Given the description of an element on the screen output the (x, y) to click on. 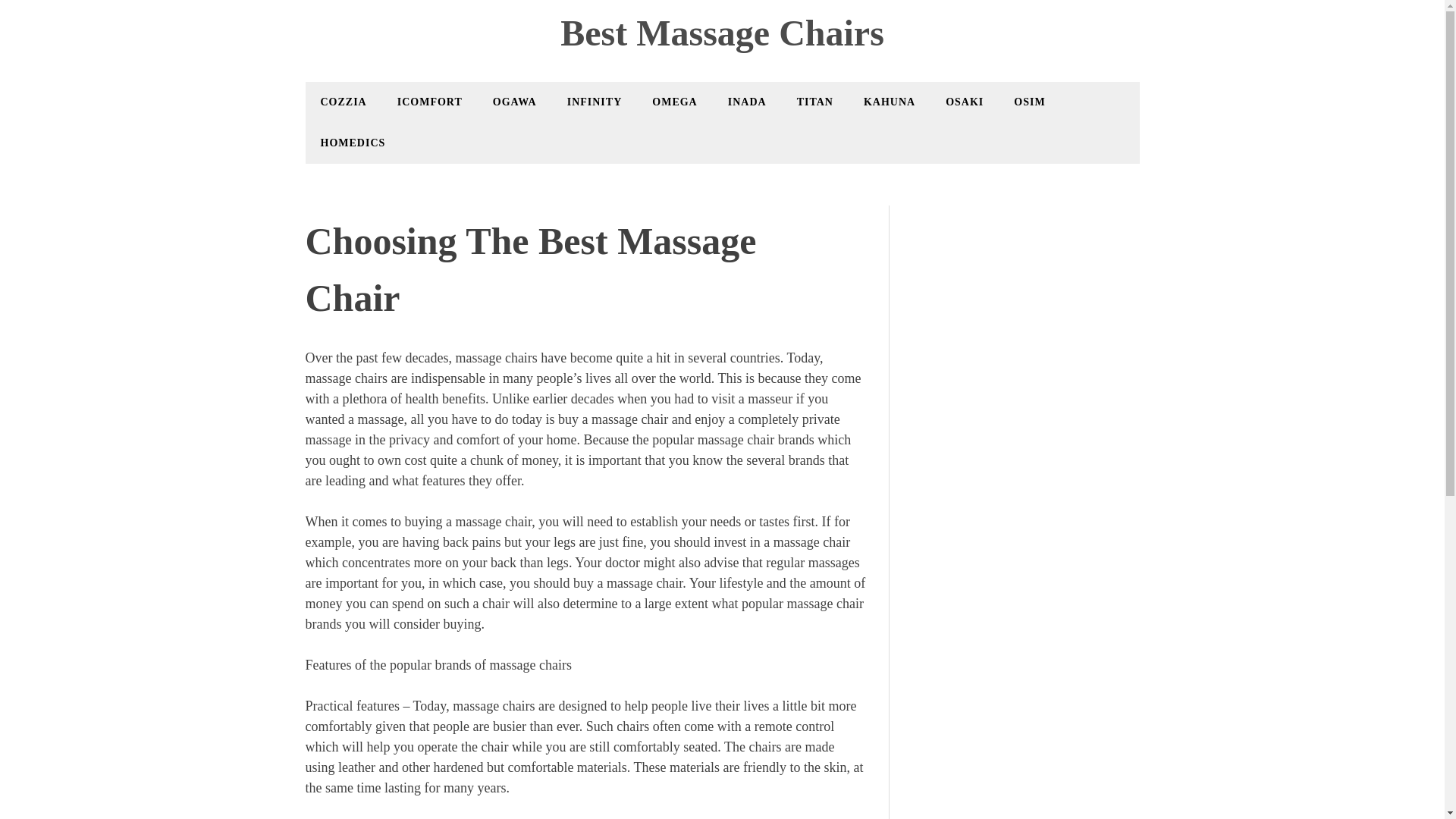
OSAKI Element type: text (964, 101)
Best Massage Chairs Element type: text (722, 32)
ICOMFORT Element type: text (429, 101)
OMEGA Element type: text (674, 101)
INFINITY Element type: text (594, 101)
KAHUNA Element type: text (889, 101)
TITAN Element type: text (814, 101)
OSIM Element type: text (1029, 101)
COZZIA Element type: text (342, 101)
HOMEDICS Element type: text (352, 142)
OGAWA Element type: text (514, 101)
INADA Element type: text (746, 101)
